Given the description of an element on the screen output the (x, y) to click on. 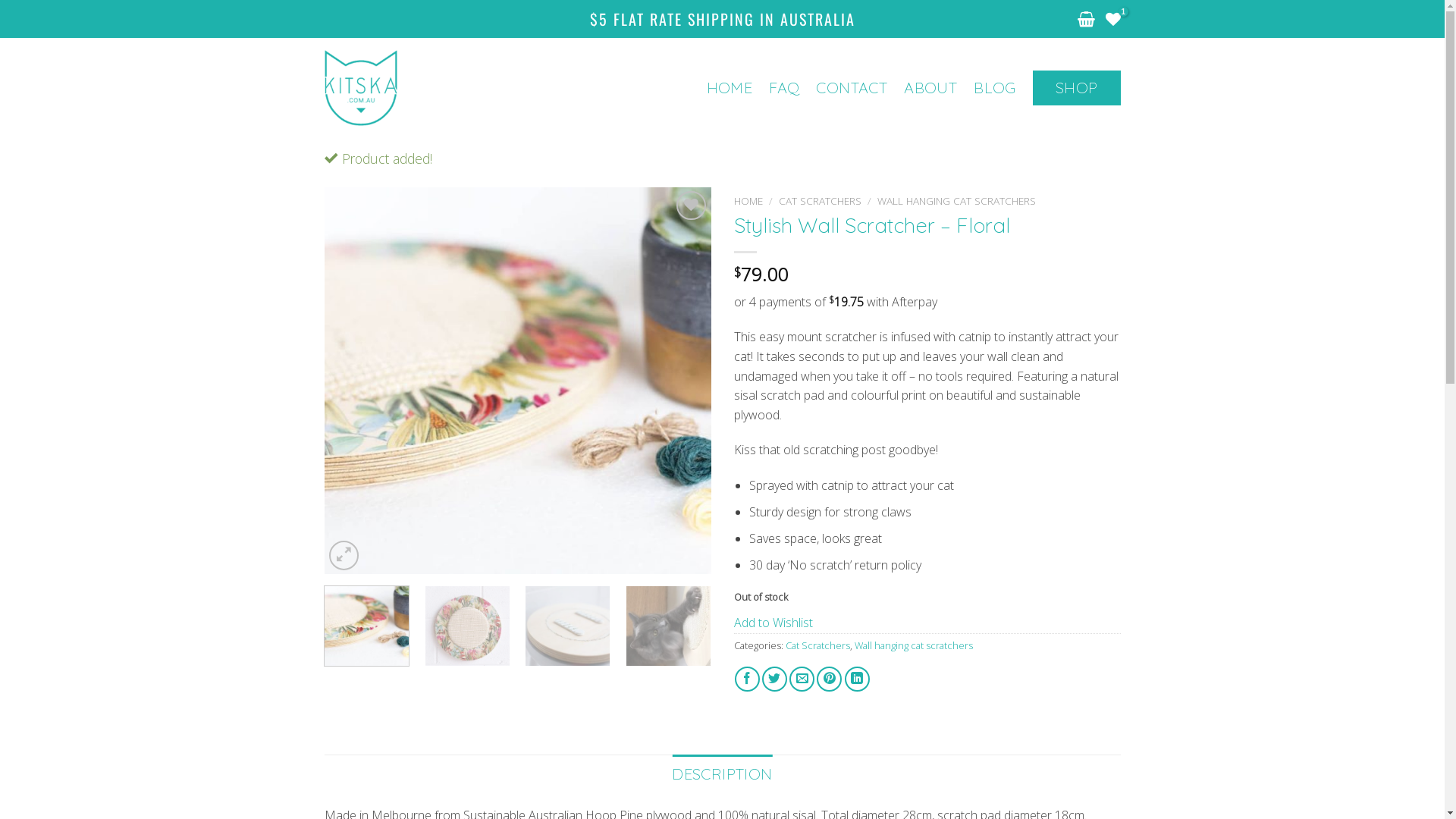
Pin on Pinterest Element type: hover (828, 678)
Email to a Friend Element type: hover (801, 678)
CAT SCRATCHERS Element type: text (819, 200)
HOME Element type: text (748, 200)
FAQ Element type: text (783, 87)
Cat Scratchers Element type: text (817, 645)
Add to Wishlist Element type: text (773, 622)
HOME Element type: text (729, 87)
BLOG Element type: text (994, 87)
Wall hanging cat scratchers Element type: text (912, 645)
ABOUT Element type: text (930, 87)
WALL HANGING CAT SCRATCHERS Element type: text (956, 200)
Kitska - Beautiful cat furniture. Element type: hover (400, 87)
Share on Twitter Element type: hover (774, 678)
Share on LinkedIn Element type: hover (856, 678)
Zoom Element type: hover (343, 555)
CONTACT Element type: text (851, 87)
Share on Facebook Element type: hover (746, 678)
Skip to content Element type: text (0, 0)
SHOP Element type: text (1076, 87)
flora-primary Element type: hover (517, 380)
DESCRIPTION Element type: text (721, 773)
Cart Element type: hover (1085, 18)
